Given the description of an element on the screen output the (x, y) to click on. 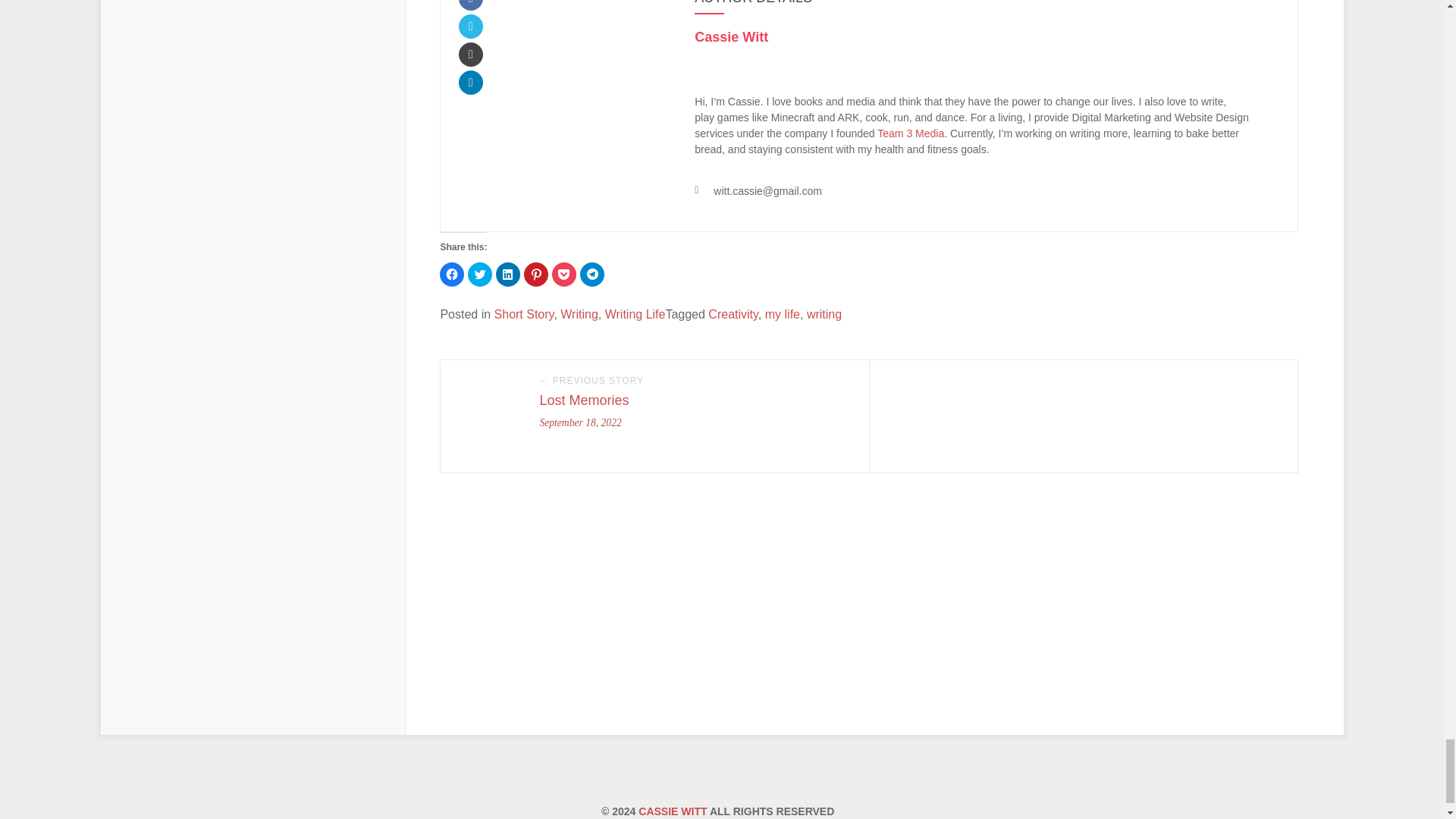
Click to share on Pinterest (536, 274)
writing (823, 314)
Click to share on LinkedIn (507, 274)
Writing Life (635, 314)
Click to share on Facebook (451, 274)
my life (782, 314)
Click to share on Telegram (591, 274)
Writing (579, 314)
Team 3 Media (910, 133)
CASSIE WITT (672, 811)
